Given the description of an element on the screen output the (x, y) to click on. 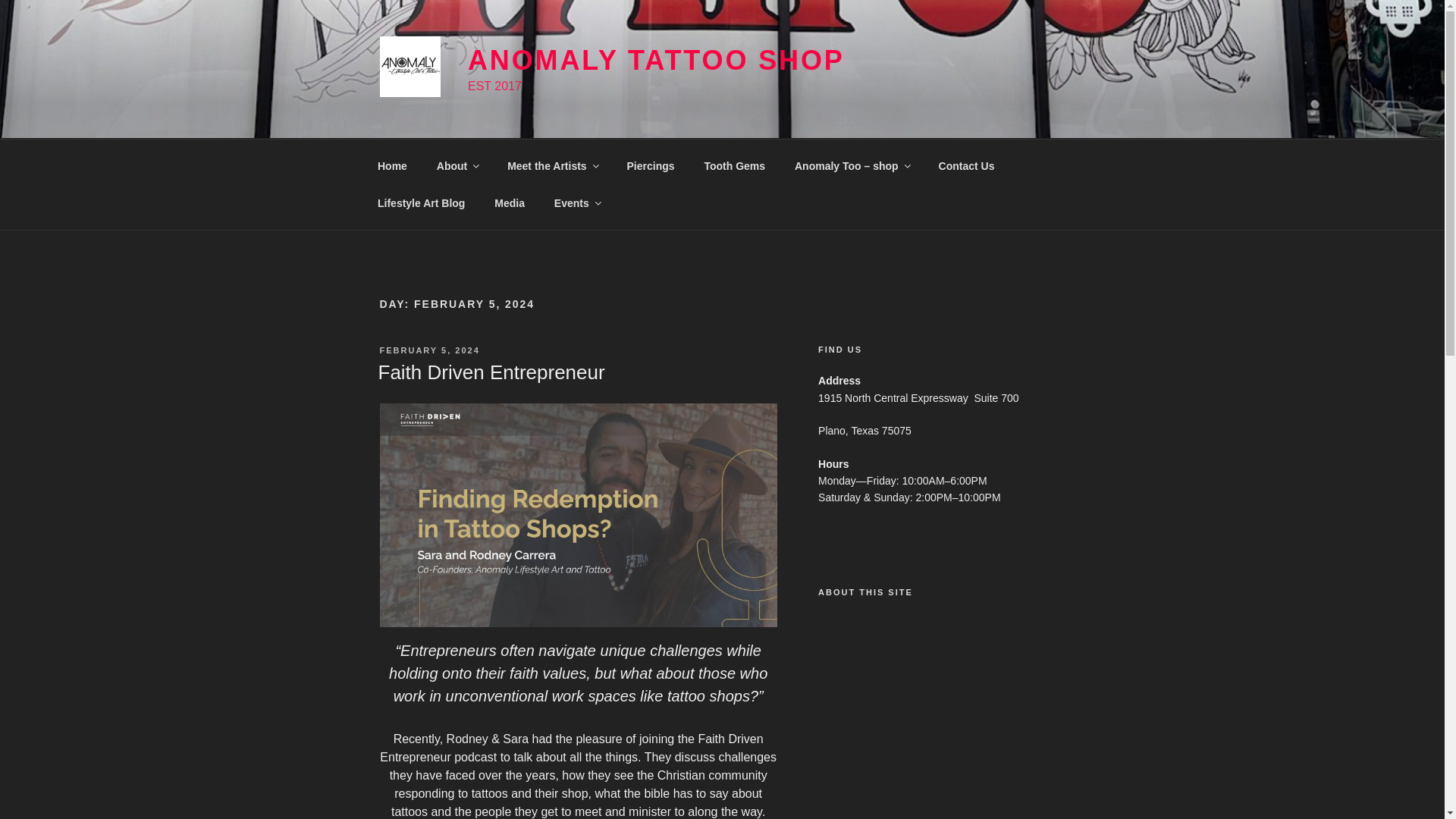
About (456, 165)
Faith Driven Entrepreneur (490, 372)
Media (509, 203)
Meet the Artists (553, 165)
Piercings (649, 165)
Contact Us (965, 165)
Lifestyle Art Blog (420, 203)
Tooth Gems (734, 165)
Home (392, 165)
ANOMALY TATTOO SHOP (655, 60)
FEBRUARY 5, 2024 (428, 349)
Events (576, 203)
